Given the description of an element on the screen output the (x, y) to click on. 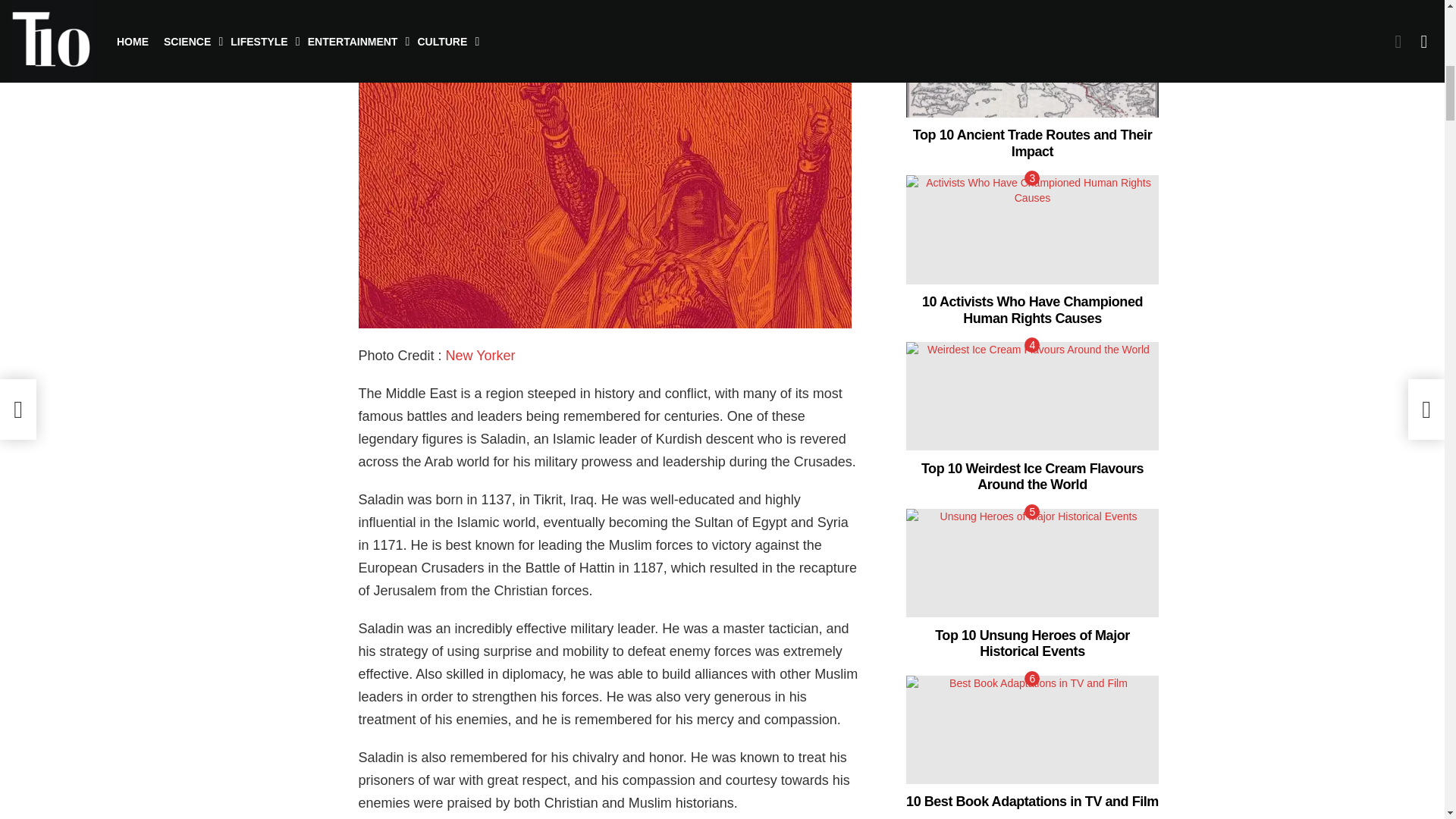
New Yorker (480, 355)
